Given the description of an element on the screen output the (x, y) to click on. 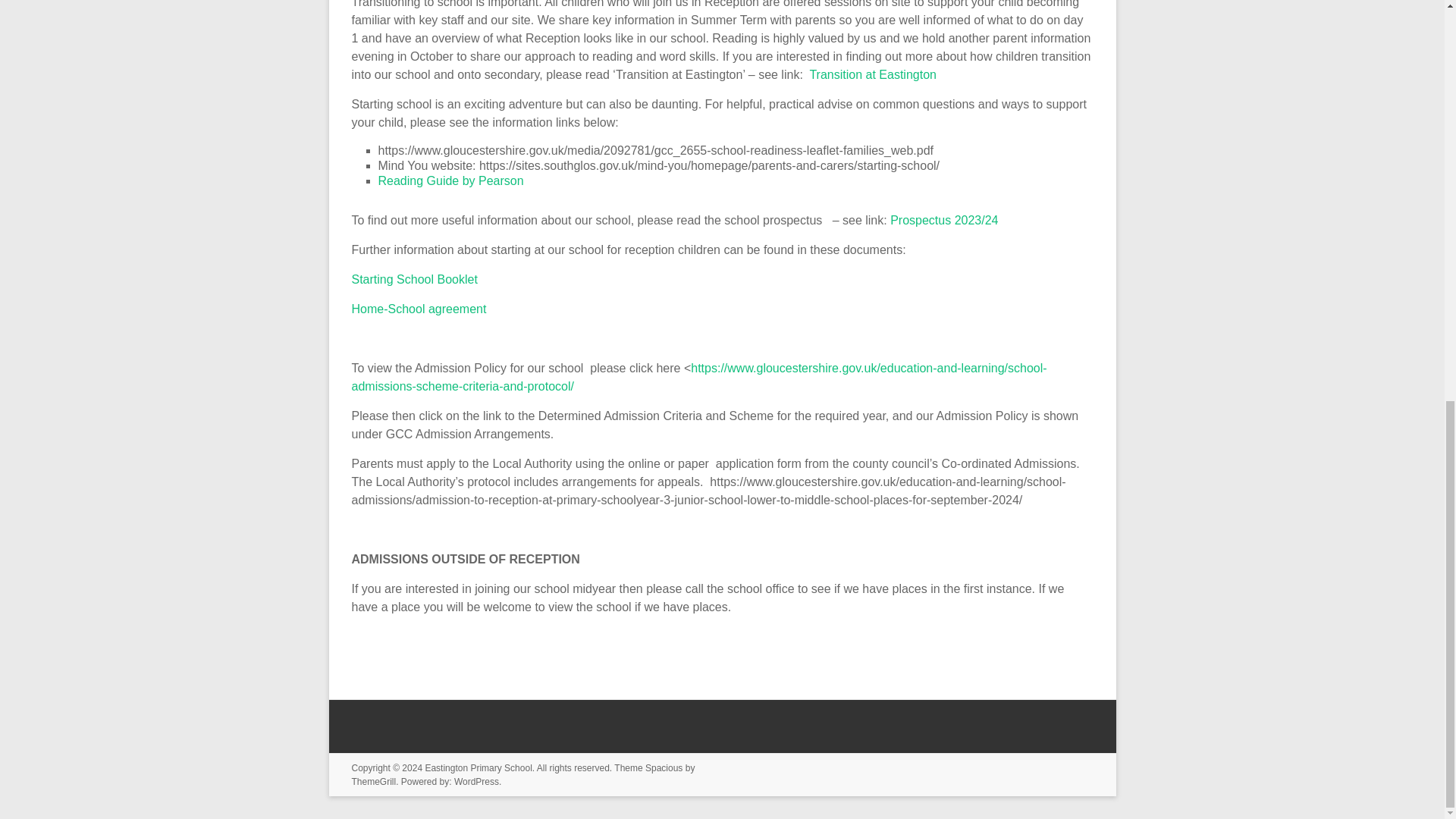
Eastington Primary School (478, 767)
WordPress (476, 781)
Spacious (663, 767)
